Given the description of an element on the screen output the (x, y) to click on. 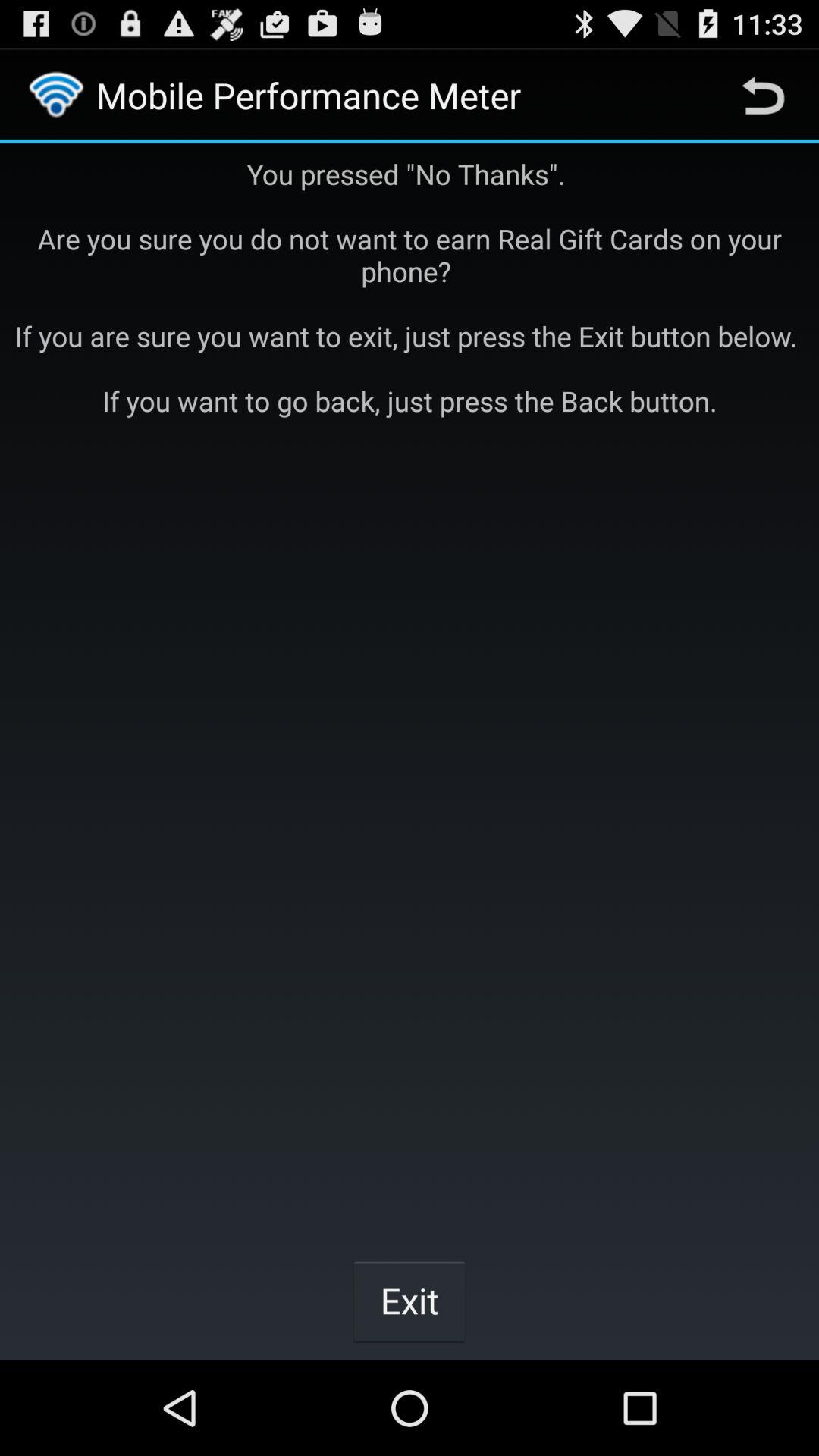
press the item above you pressed no icon (763, 95)
